Given the description of an element on the screen output the (x, y) to click on. 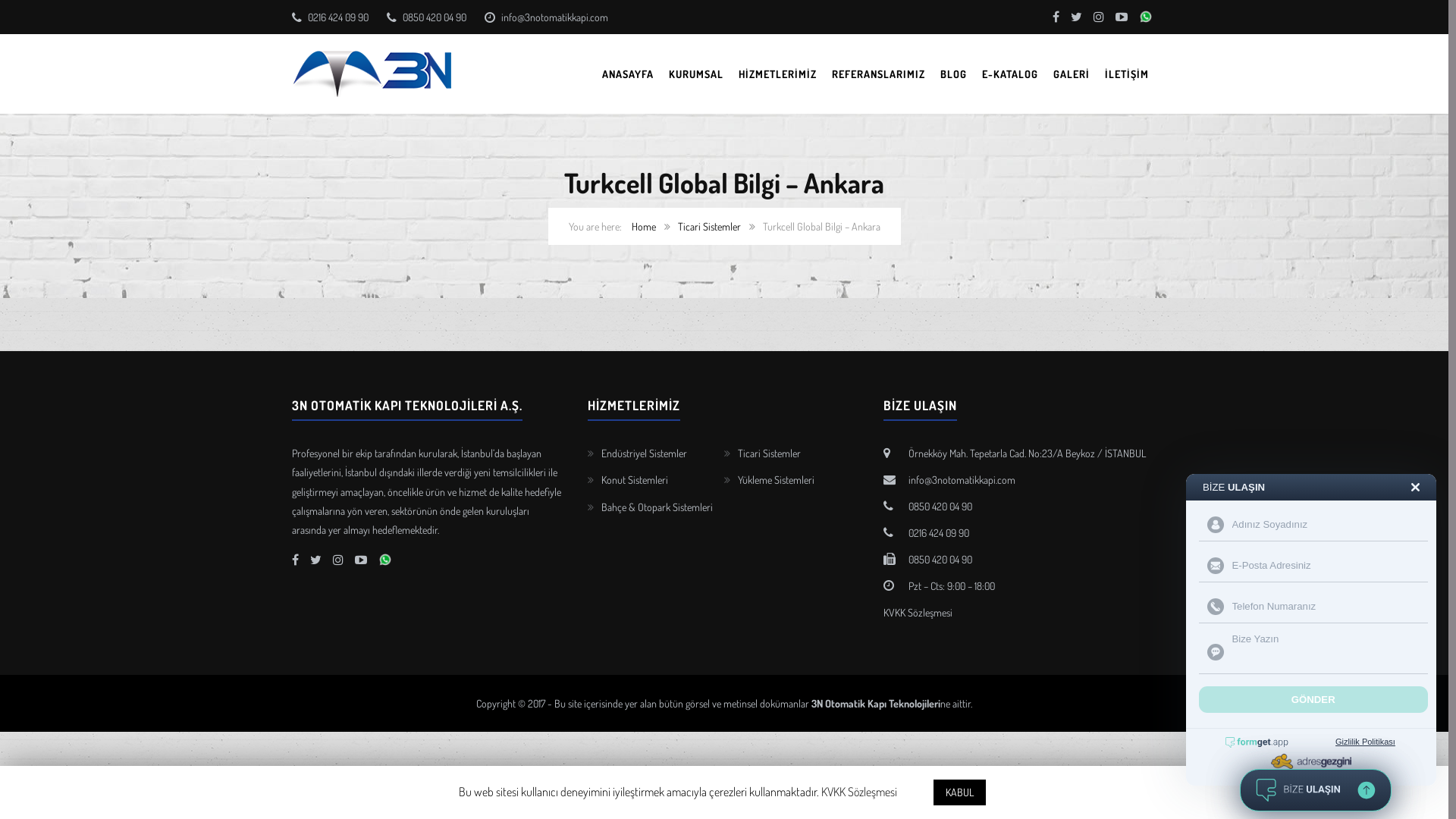
Ticari Sistemler Element type: text (708, 225)
BLOG Element type: text (953, 73)
Konut Sistemleri Element type: text (634, 479)
ANASAYFA Element type: text (627, 73)
0850 420 04 90 Element type: text (939, 505)
E-KATALOG Element type: text (1010, 73)
Ticari Sistemler Element type: text (768, 452)
KURUMSAL Element type: text (695, 73)
0216 424 09 90 Element type: text (336, 16)
Home Element type: text (642, 225)
KABUL Element type: text (959, 792)
REFERANSLARIMIZ Element type: text (878, 73)
GALERI Element type: text (1071, 73)
HIZMETLERIMIZ Element type: text (777, 73)
0850 420 04 90 Element type: text (433, 16)
0216 424 09 90 Element type: text (937, 532)
